Given the description of an element on the screen output the (x, y) to click on. 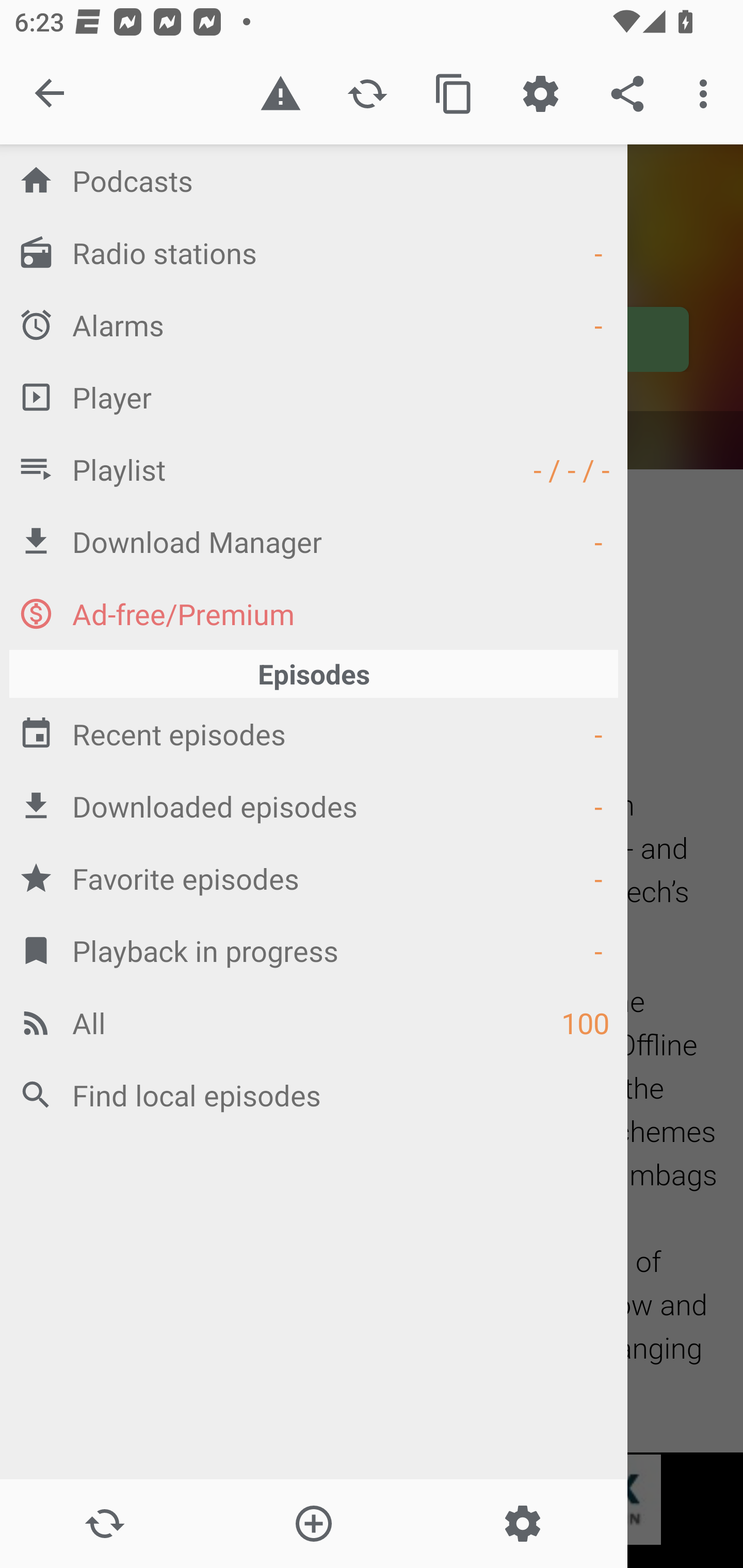
Close navigation sidebar (50, 93)
Report inappropriate content (280, 93)
Refresh podcast description (366, 93)
Copy feed url to clipboard (453, 93)
Custom Settings (540, 93)
Share the podcast (626, 93)
More options (706, 93)
Podcasts (313, 180)
Radio stations  -  (313, 252)
Alarms  -  (313, 324)
Player (313, 396)
Playlist - / - / - (313, 468)
Download Manager  -  (313, 540)
Ad-free/Premium (313, 613)
Recent episodes  -  (313, 733)
Downloaded episodes  -  (313, 805)
Favorite episodes  -  (313, 878)
Playback in progress  -  (313, 950)
All 100 (313, 1022)
Find local episodes (313, 1094)
Update (104, 1523)
Add new Podcast (312, 1523)
Settings (522, 1523)
